Given the description of an element on the screen output the (x, y) to click on. 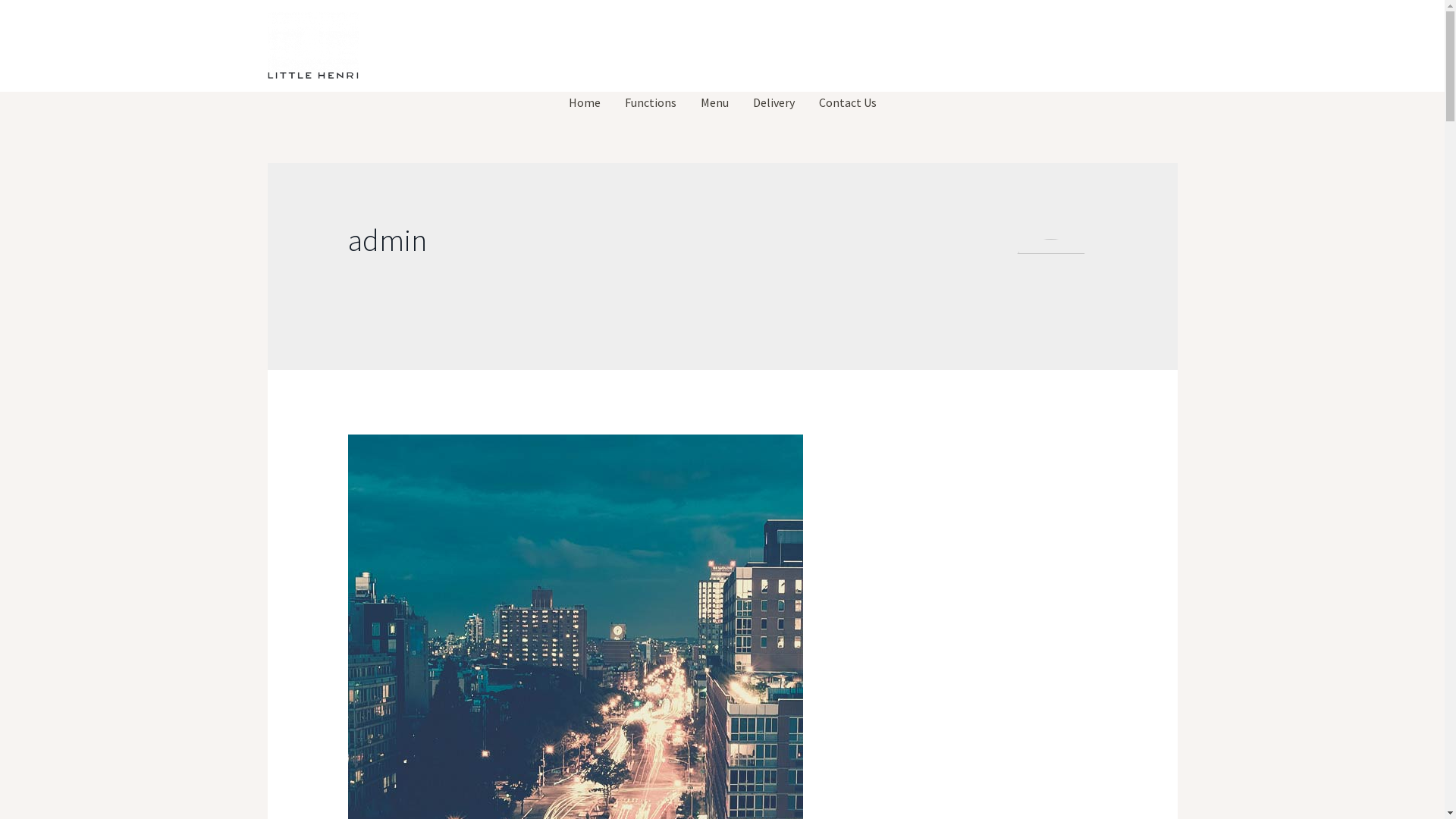
Contact Us Element type: text (847, 102)
Menu Element type: text (714, 102)
Delivery Element type: text (773, 102)
Functions Element type: text (650, 102)
Home Element type: text (584, 102)
